Given the description of an element on the screen output the (x, y) to click on. 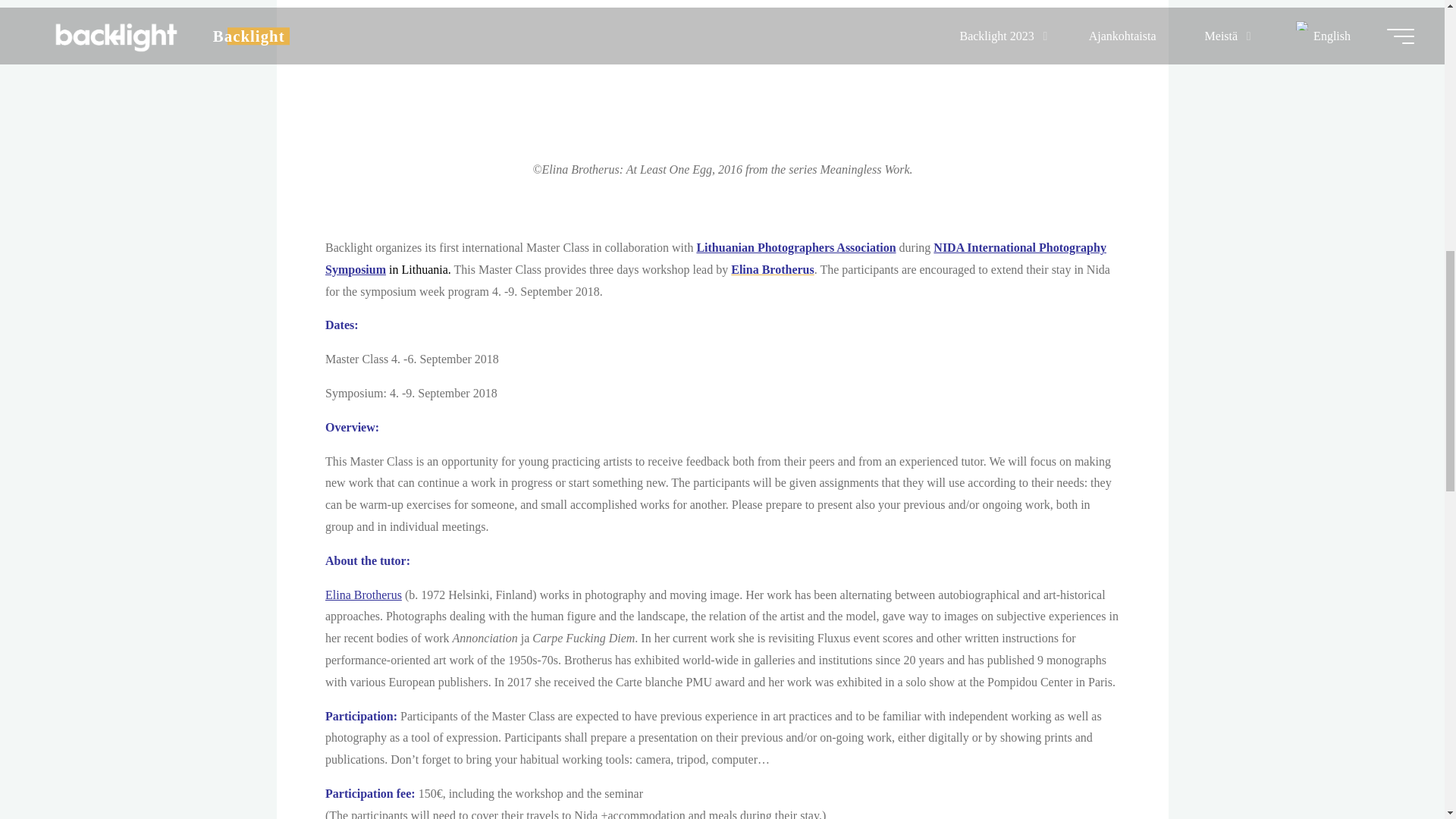
Elina Brotherus (362, 594)
NIDA International Photography Symposium (714, 258)
Elina Brotherus (771, 269)
Lithuanian Photographers Association (795, 246)
